Given the description of an element on the screen output the (x, y) to click on. 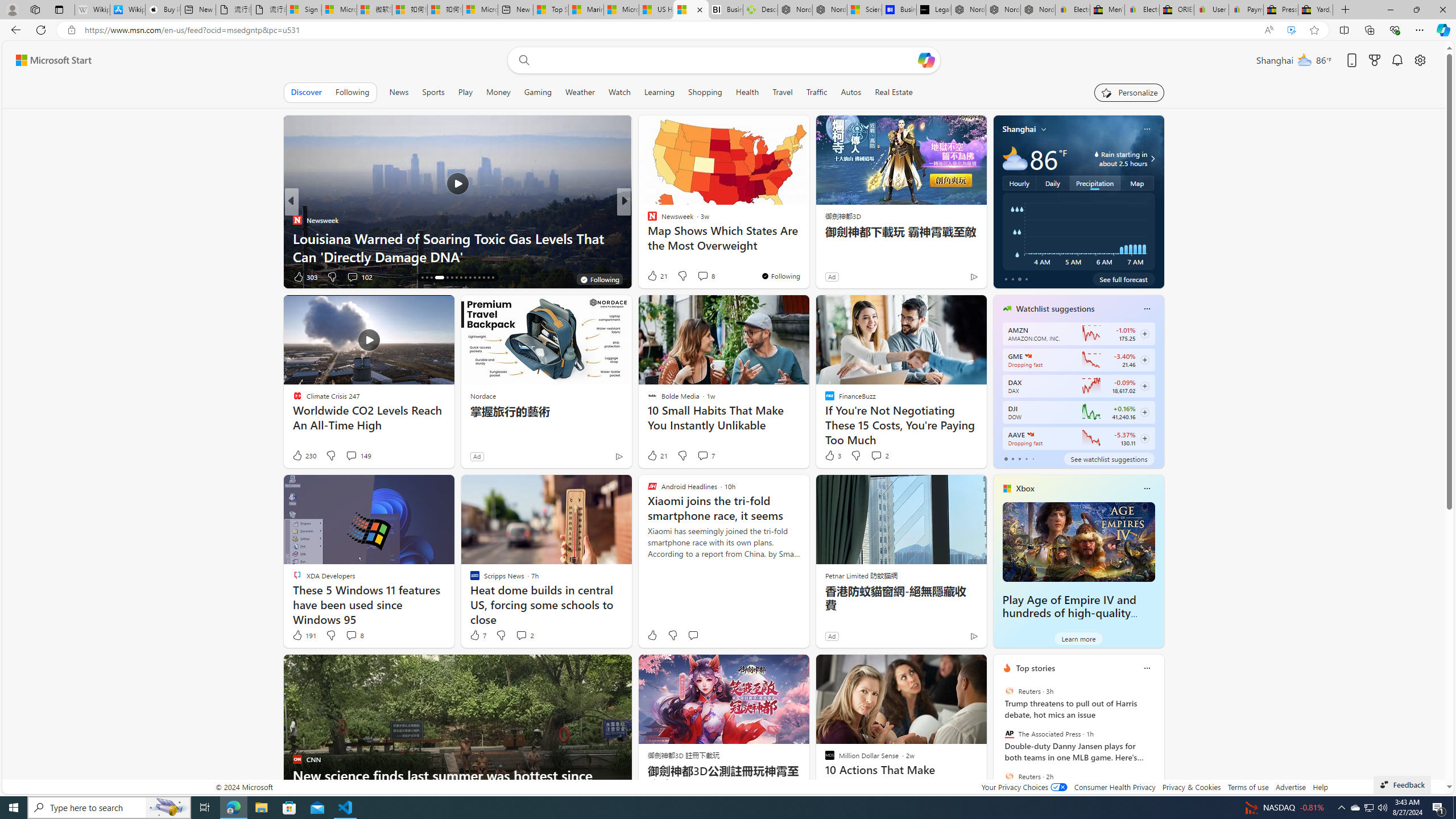
AutomationID: tab-26 (474, 277)
AutomationID: tab-17 (426, 277)
View comments 3 Comment (702, 276)
Reader's Digest (647, 238)
